Given the description of an element on the screen output the (x, y) to click on. 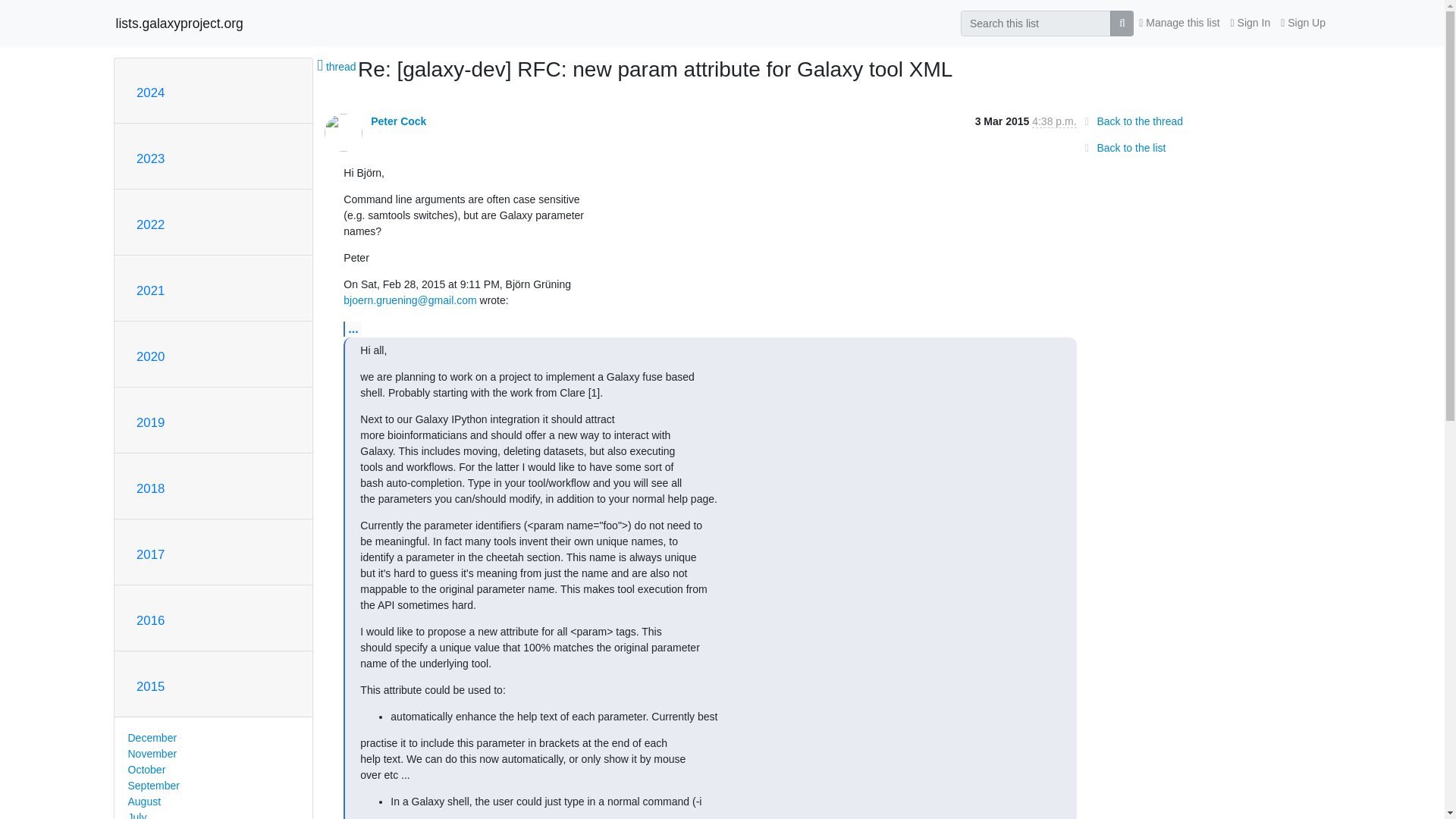
Sign Up (1302, 22)
Manage this list (1179, 22)
2023 (150, 158)
See the profile for Peter Cock (398, 121)
2024 (150, 92)
2022 (150, 224)
lists.galaxyproject.org (179, 22)
Sender's time: March 3, 2015, 4:38 p.m. (1053, 121)
Sign In (1250, 22)
